Given the description of an element on the screen output the (x, y) to click on. 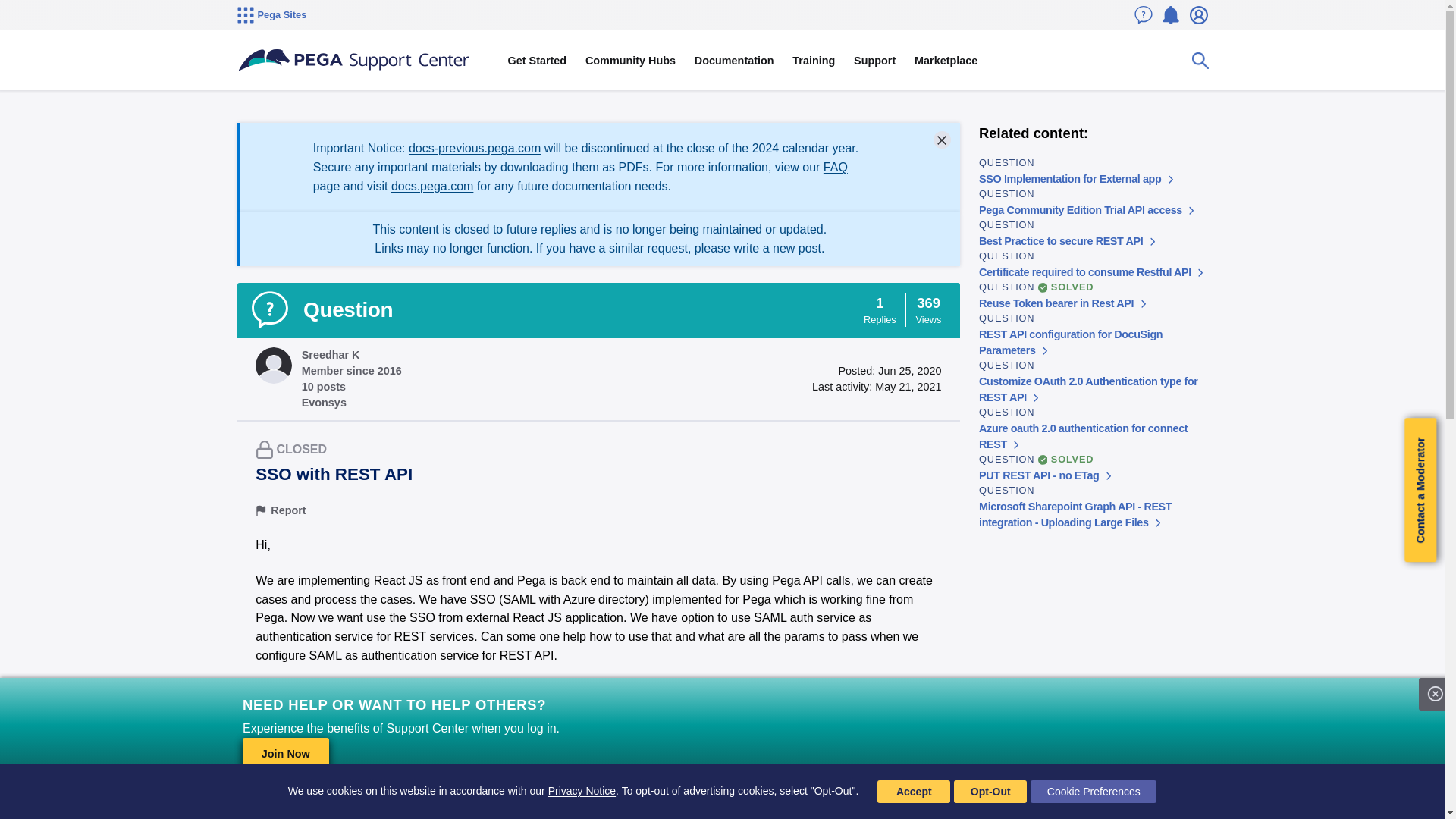
Toggle Search Panel (1200, 60)
Get Started (536, 60)
Community Hubs (630, 60)
